Given the description of an element on the screen output the (x, y) to click on. 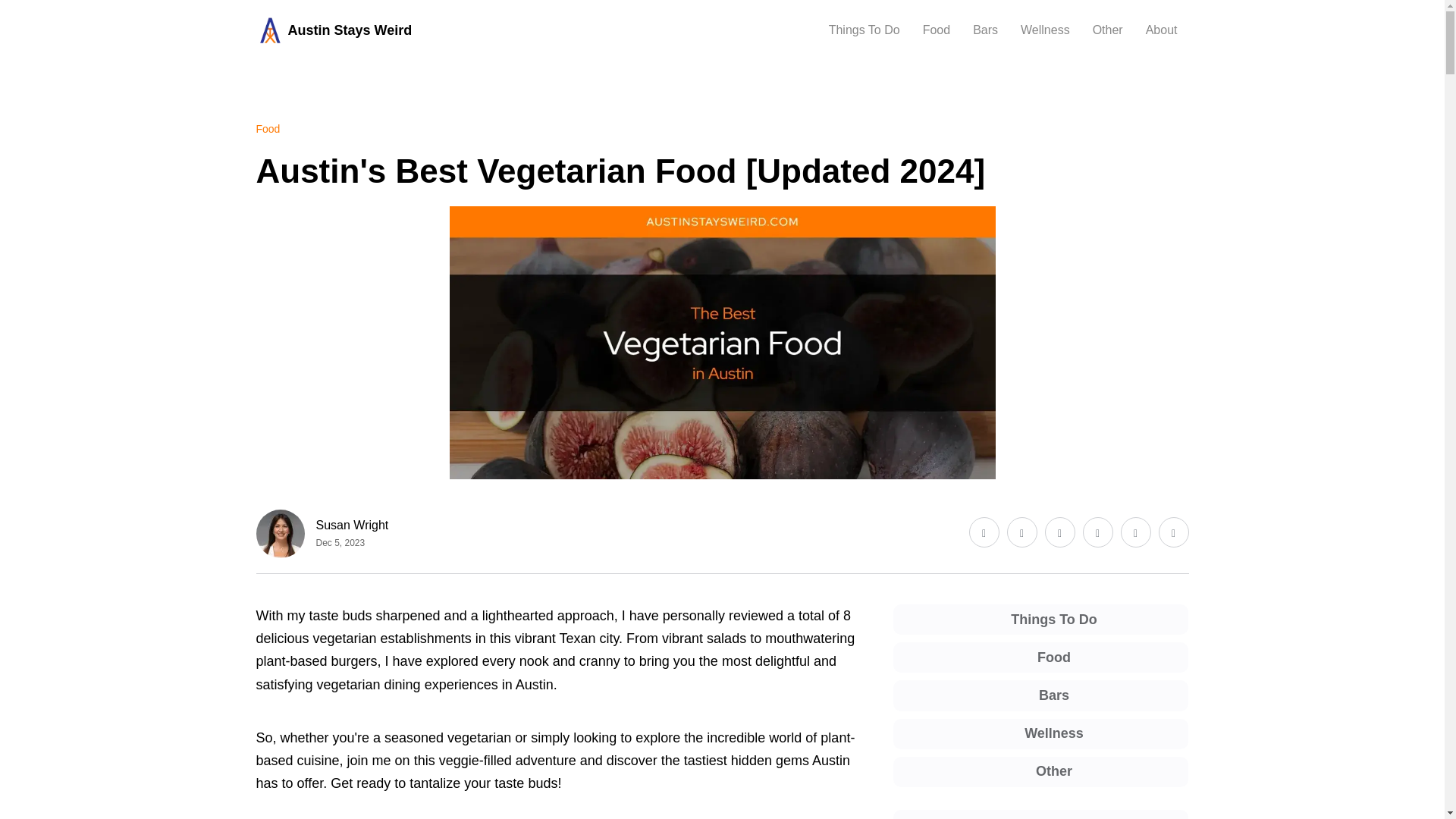
Austin Stays Weird (334, 30)
Things To Do (863, 30)
Other (1107, 30)
Food (268, 128)
Bars (984, 30)
About (1161, 30)
Wellness (1045, 30)
Food (936, 30)
Susan Wright (351, 525)
